Given the description of an element on the screen output the (x, y) to click on. 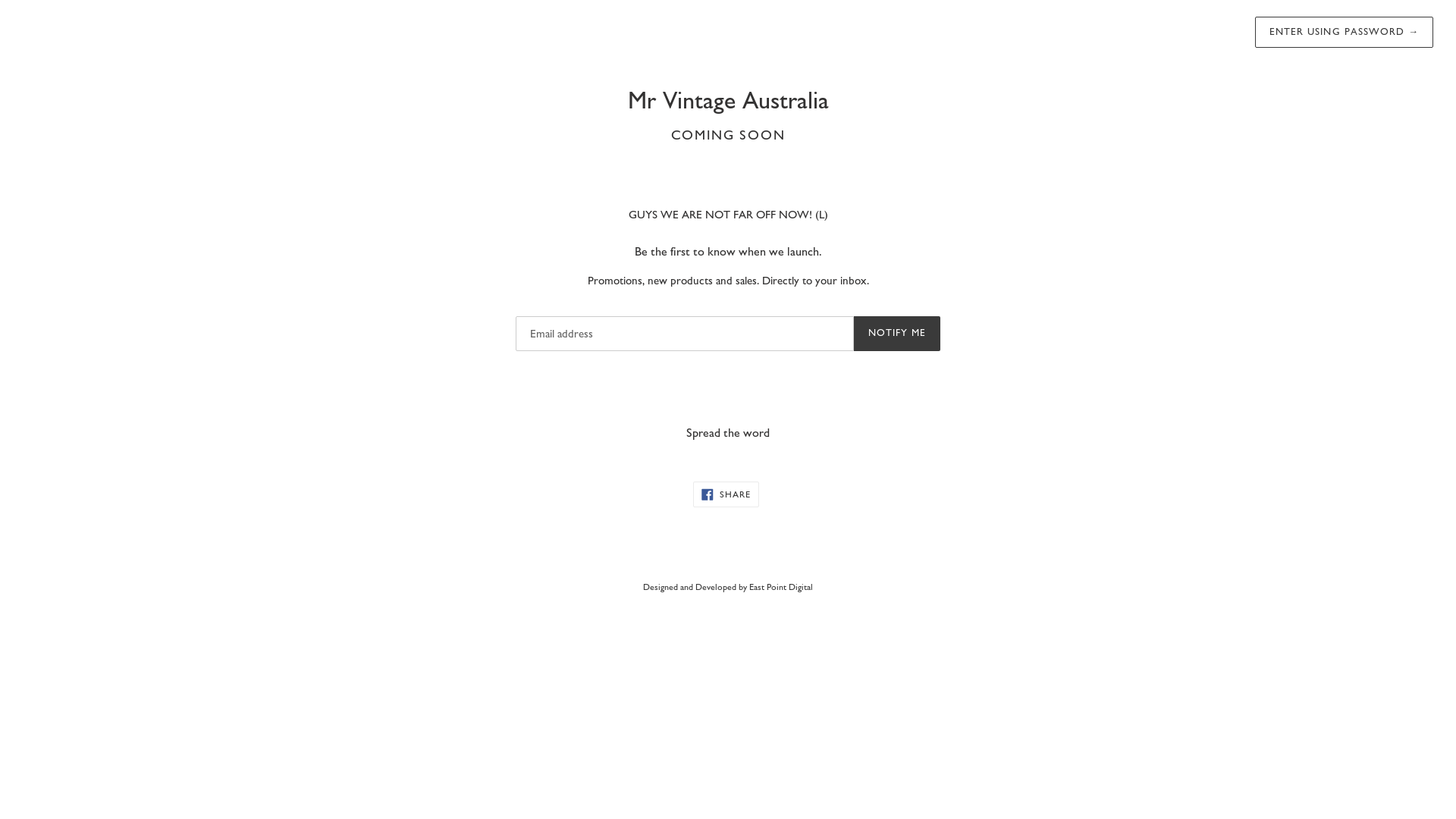
Designed and Developed by East Point Digital Element type: text (727, 586)
NOTIFY ME Element type: text (896, 333)
SHARE
SHARE ON FACEBOOK Element type: text (726, 494)
